Given the description of an element on the screen output the (x, y) to click on. 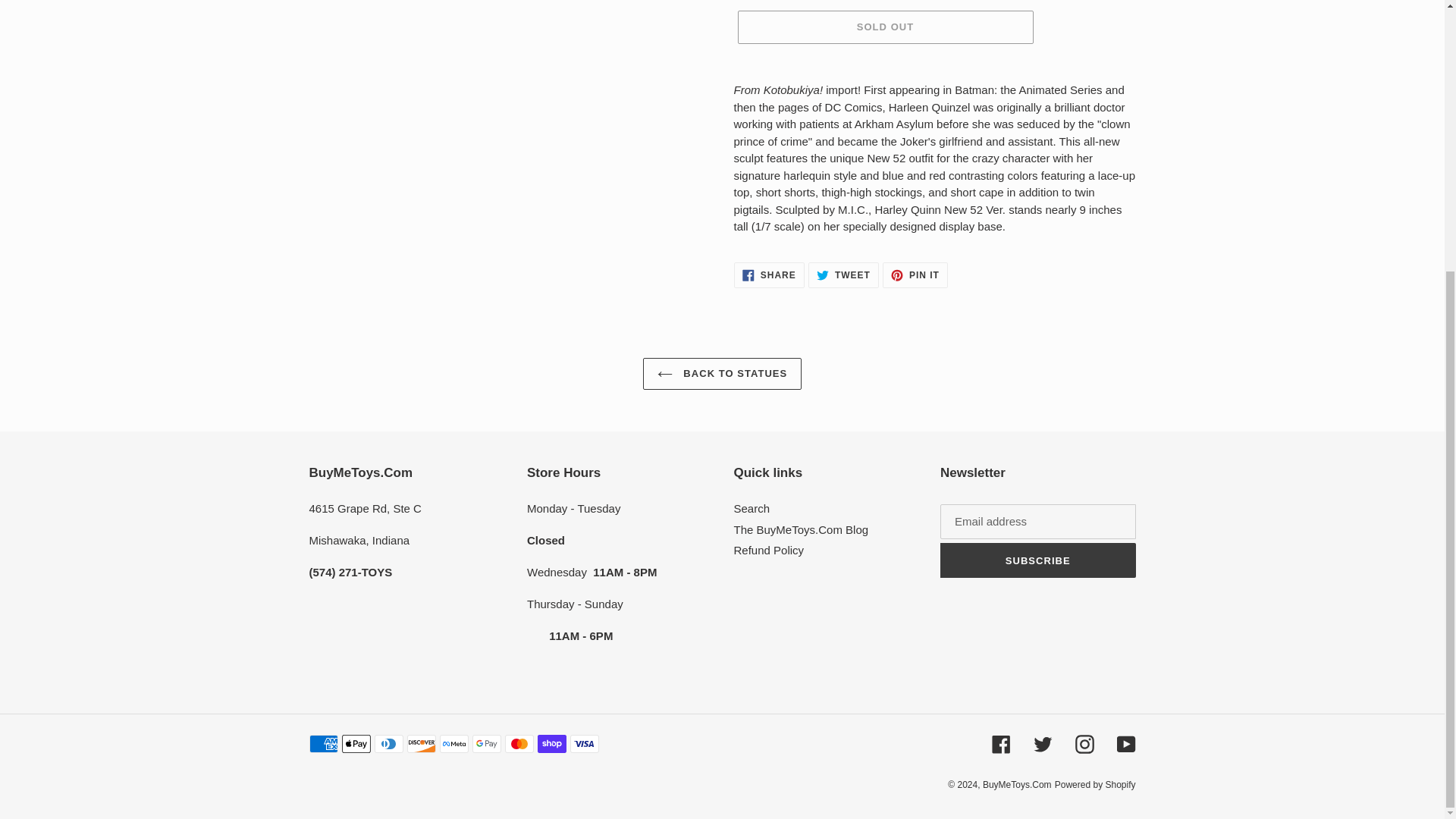
SOLD OUT (884, 27)
The BuyMeToys.Com Blog (914, 275)
BACK TO STATUES (801, 529)
Search (843, 275)
SUBSCRIBE (722, 373)
Refund Policy (769, 275)
Facebook (751, 508)
